Given the description of an element on the screen output the (x, y) to click on. 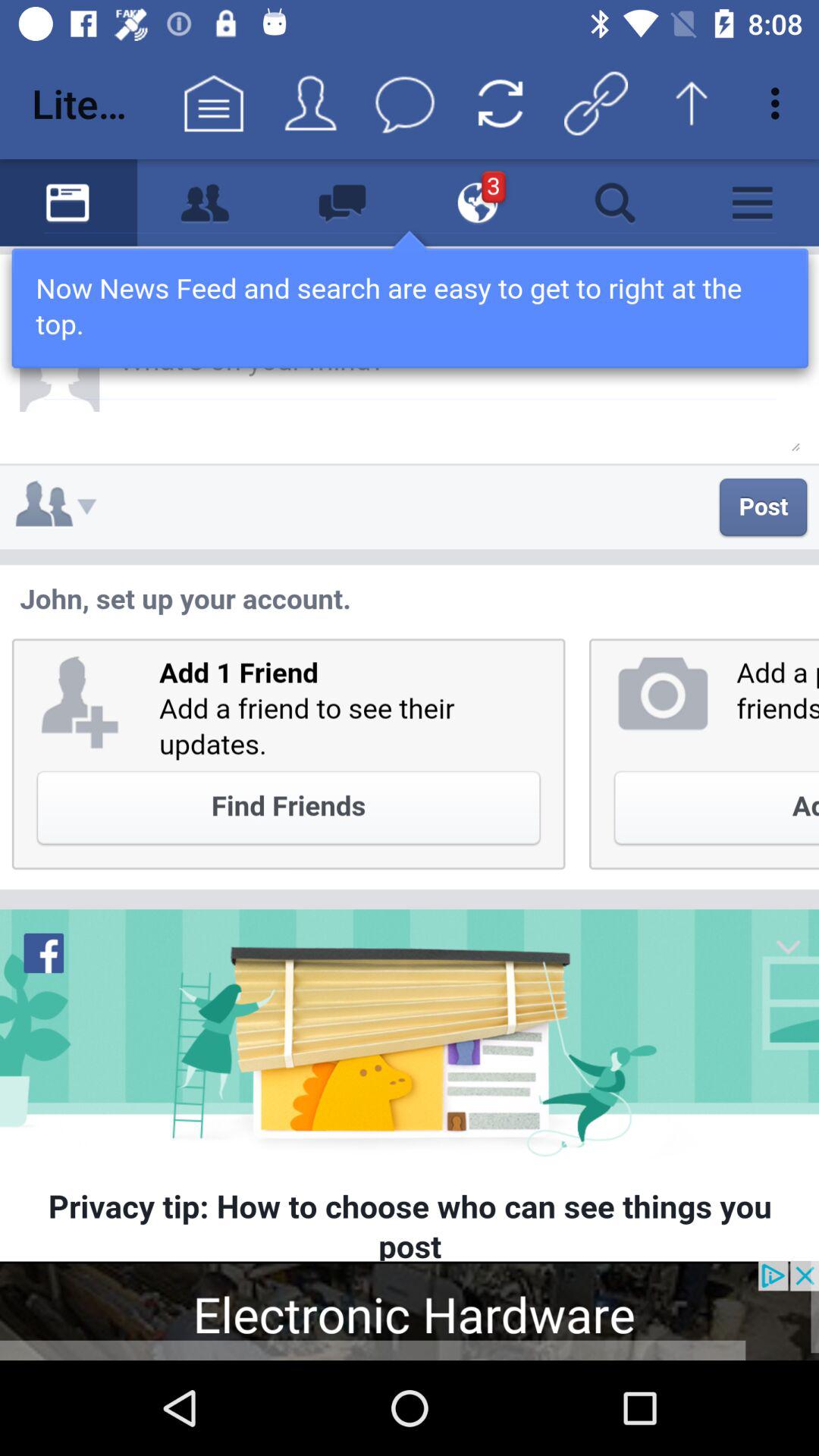
advertisement electronic hardware (409, 1310)
